Given the description of an element on the screen output the (x, y) to click on. 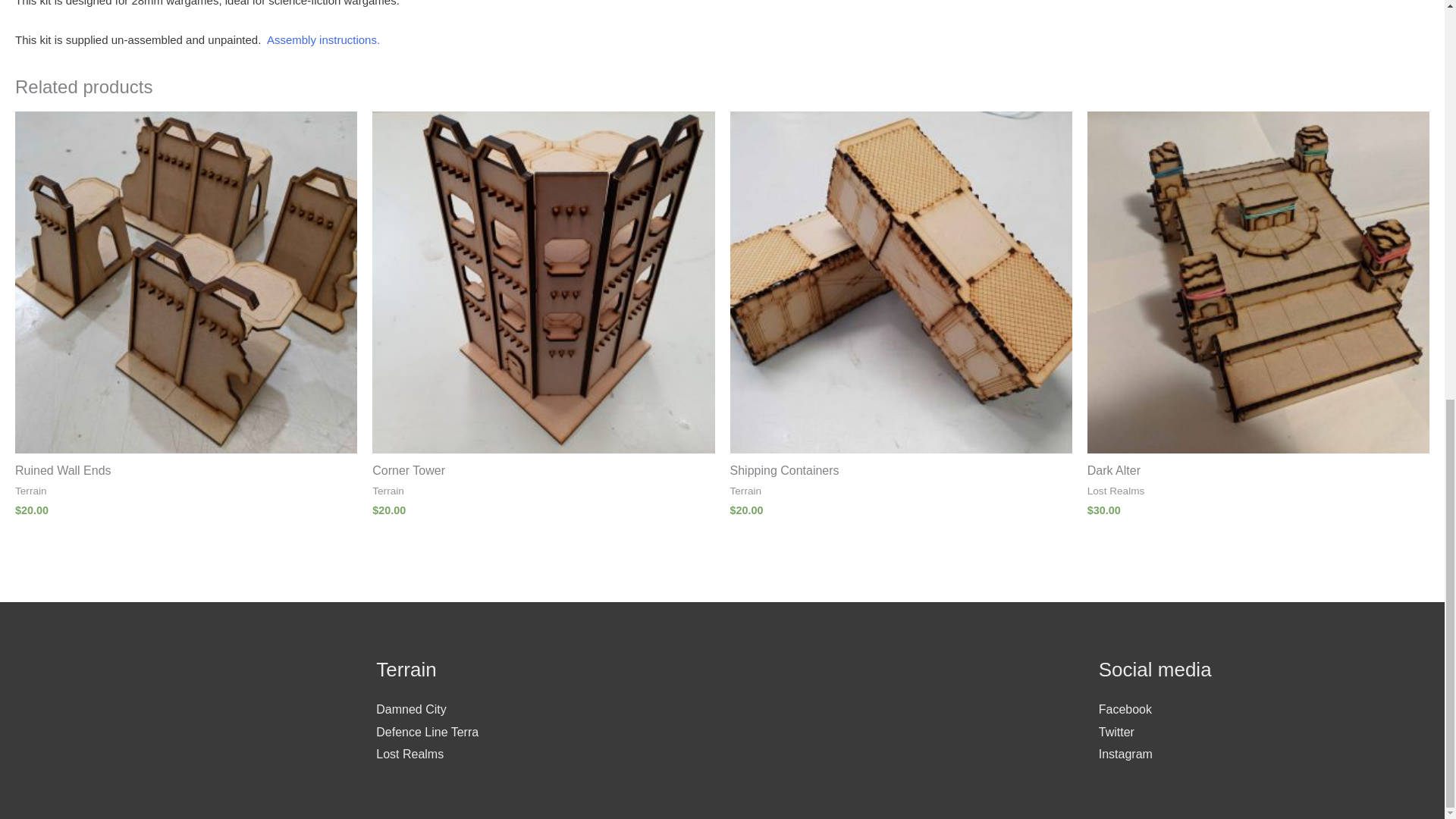
Shipping Containers (900, 471)
Assembly instructions. (323, 39)
Corner Tower (543, 471)
Ruined Wall Ends (185, 471)
Dark Alter (1258, 471)
